Given the description of an element on the screen output the (x, y) to click on. 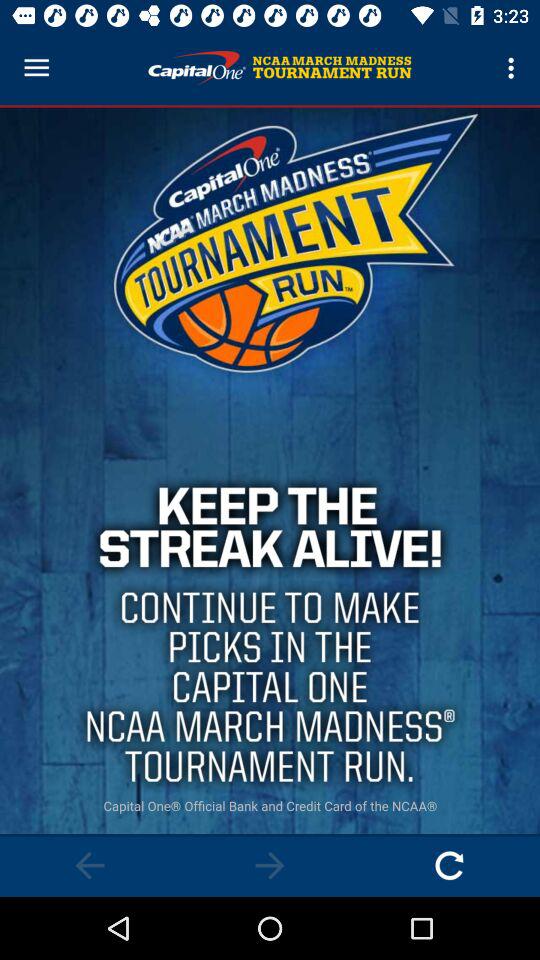
go forward (269, 865)
